Given the description of an element on the screen output the (x, y) to click on. 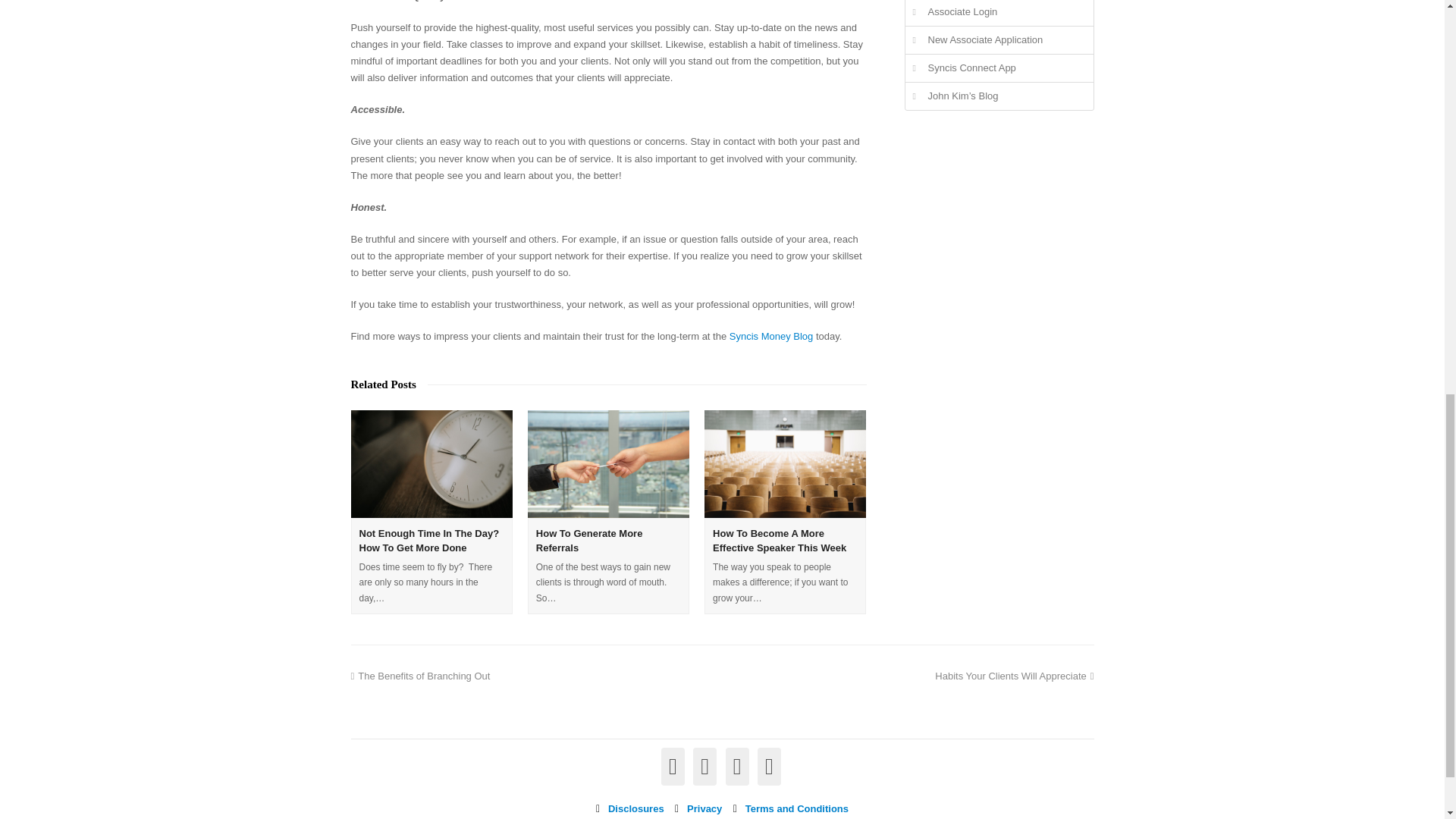
How To Generate More Referrals (589, 540)
How To Generate More Referrals (607, 463)
Syncis Money Blog (771, 336)
How to Become a More Effective Speaker This Week (779, 540)
Not Enough Time in the Day? How to Get More Done (431, 463)
How to Become a More Effective Speaker This Week (785, 463)
Not Enough Time in the Day? How to Get More Done (429, 540)
